Given the description of an element on the screen output the (x, y) to click on. 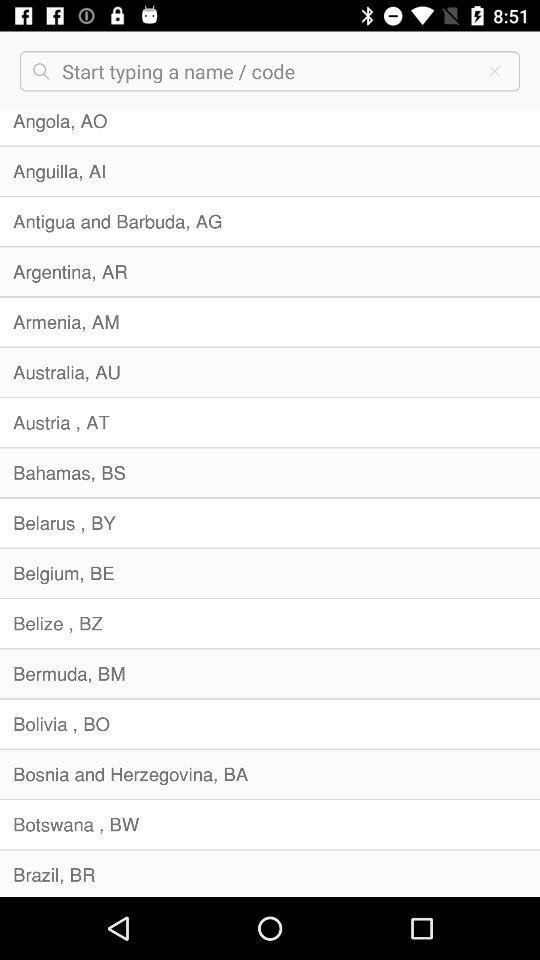
box for entering a name or a code (265, 71)
